Given the description of an element on the screen output the (x, y) to click on. 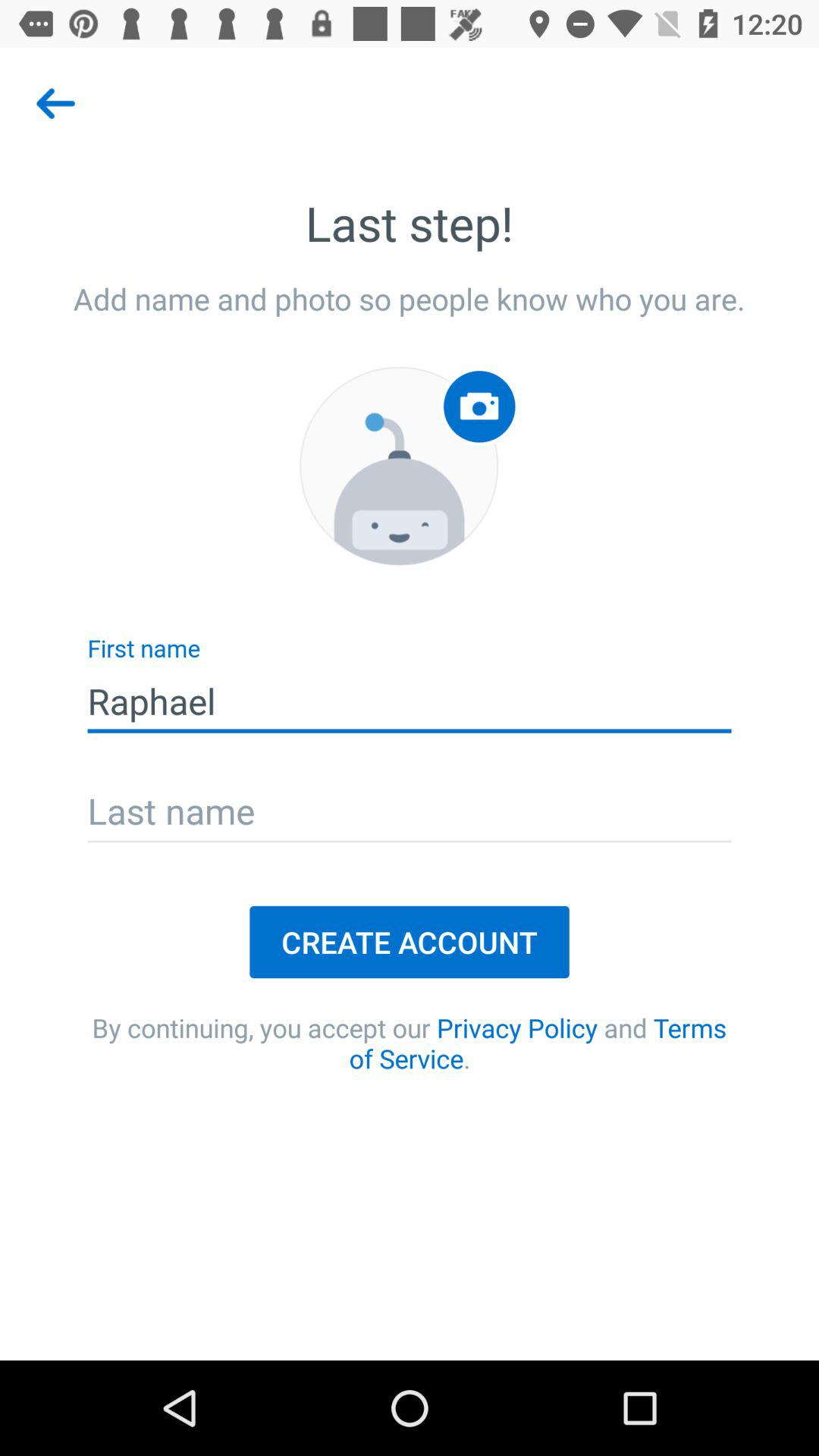
tap the raphael item (409, 701)
